Given the description of an element on the screen output the (x, y) to click on. 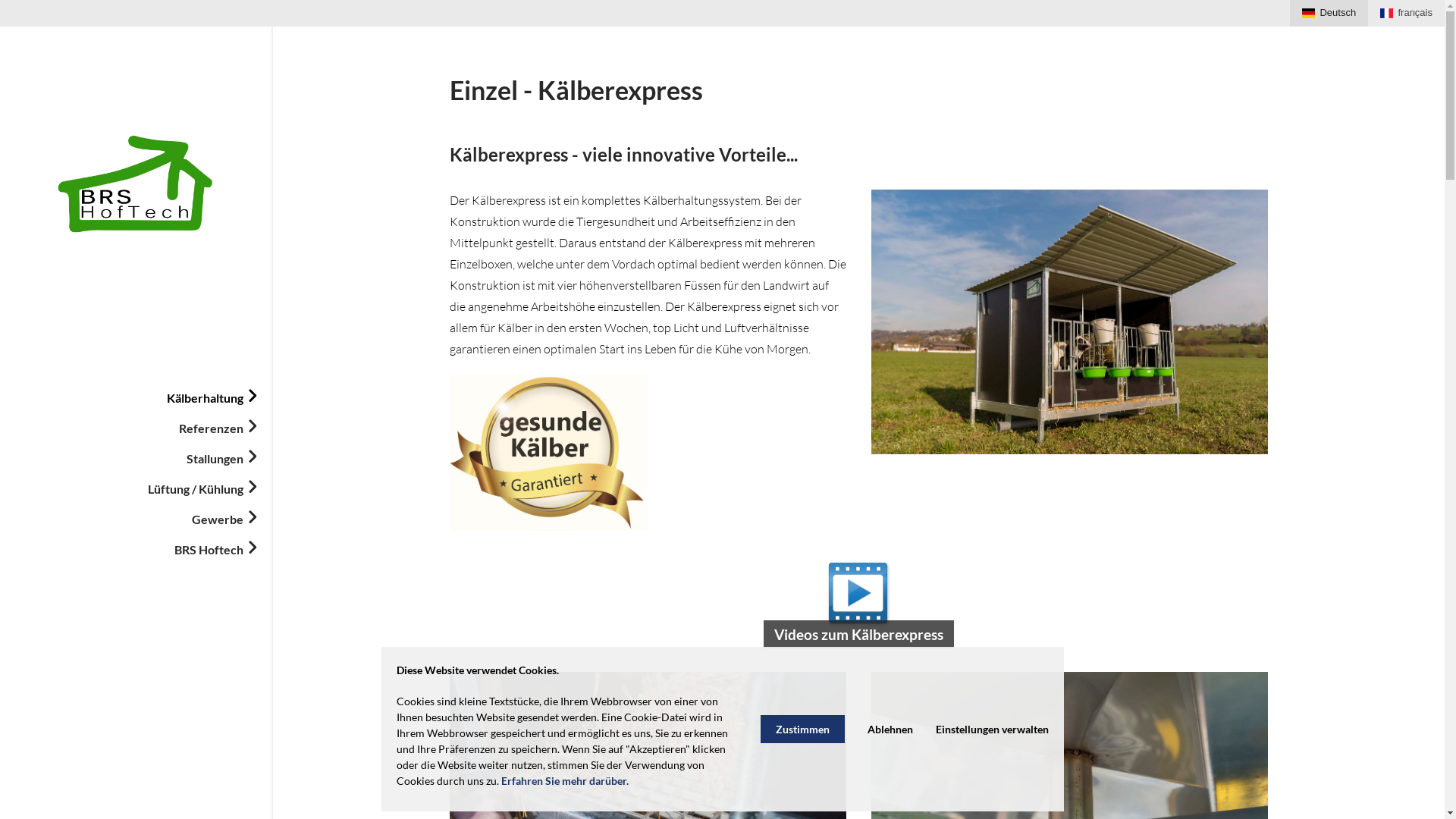
BRS Hoftech GmbH Element type: hover (136, 183)
Einstellungen verwalten Element type: text (991, 729)
Zustimmen Element type: text (801, 729)
Deutsch Element type: text (1328, 13)
Ablehnen Element type: text (890, 729)
